Given the description of an element on the screen output the (x, y) to click on. 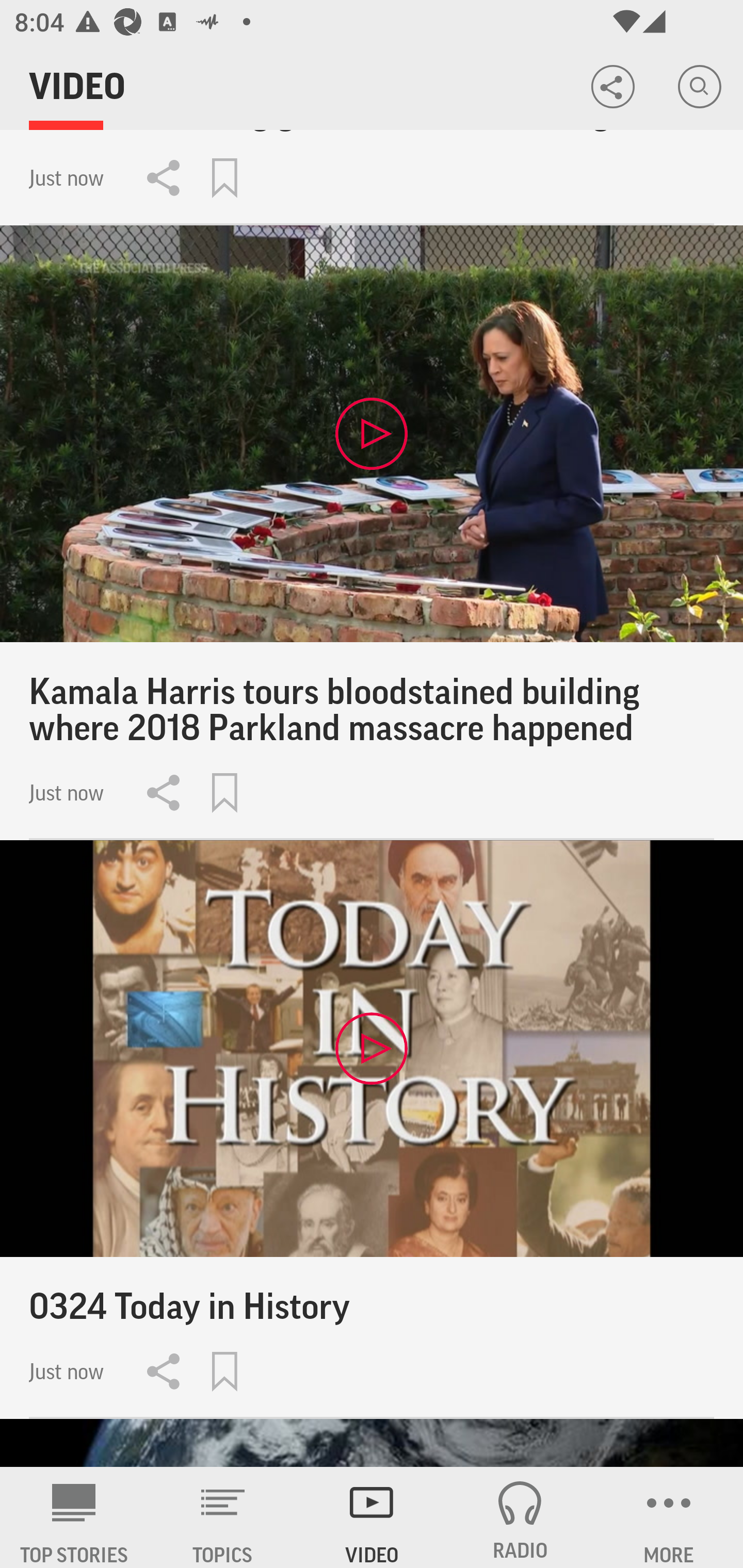
Bamboo farming gains momentum in Uganda Just now (371, 177)
0324 Today in History Just now (371, 1129)
AP News TOP STORIES (74, 1517)
TOPICS (222, 1517)
VIDEO (371, 1517)
RADIO (519, 1517)
MORE (668, 1517)
